Given the description of an element on the screen output the (x, y) to click on. 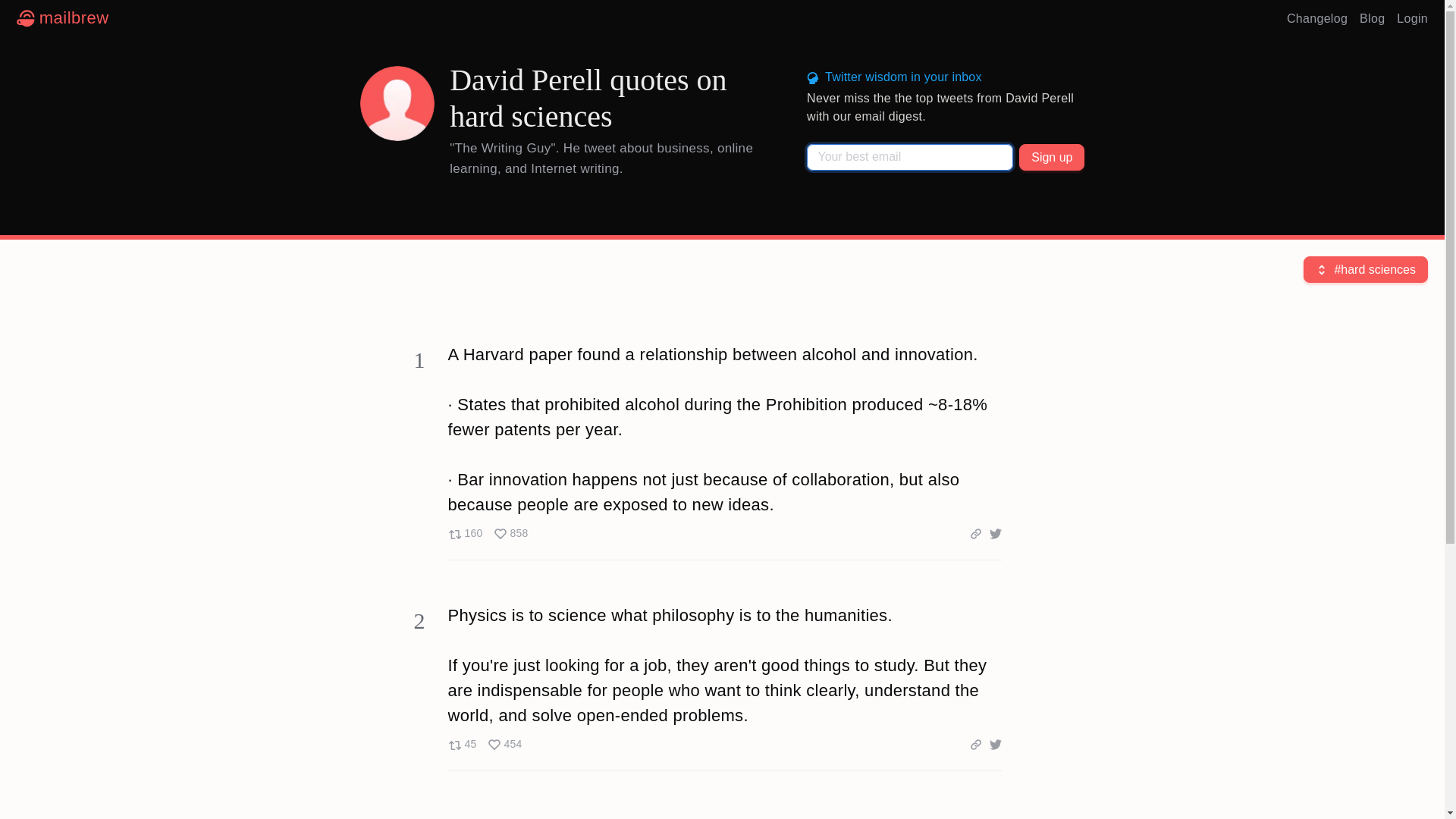
Sign up (483, 744)
Changelog (1051, 157)
Login (486, 533)
mailbrew (1317, 18)
Blog (1412, 18)
